Given the description of an element on the screen output the (x, y) to click on. 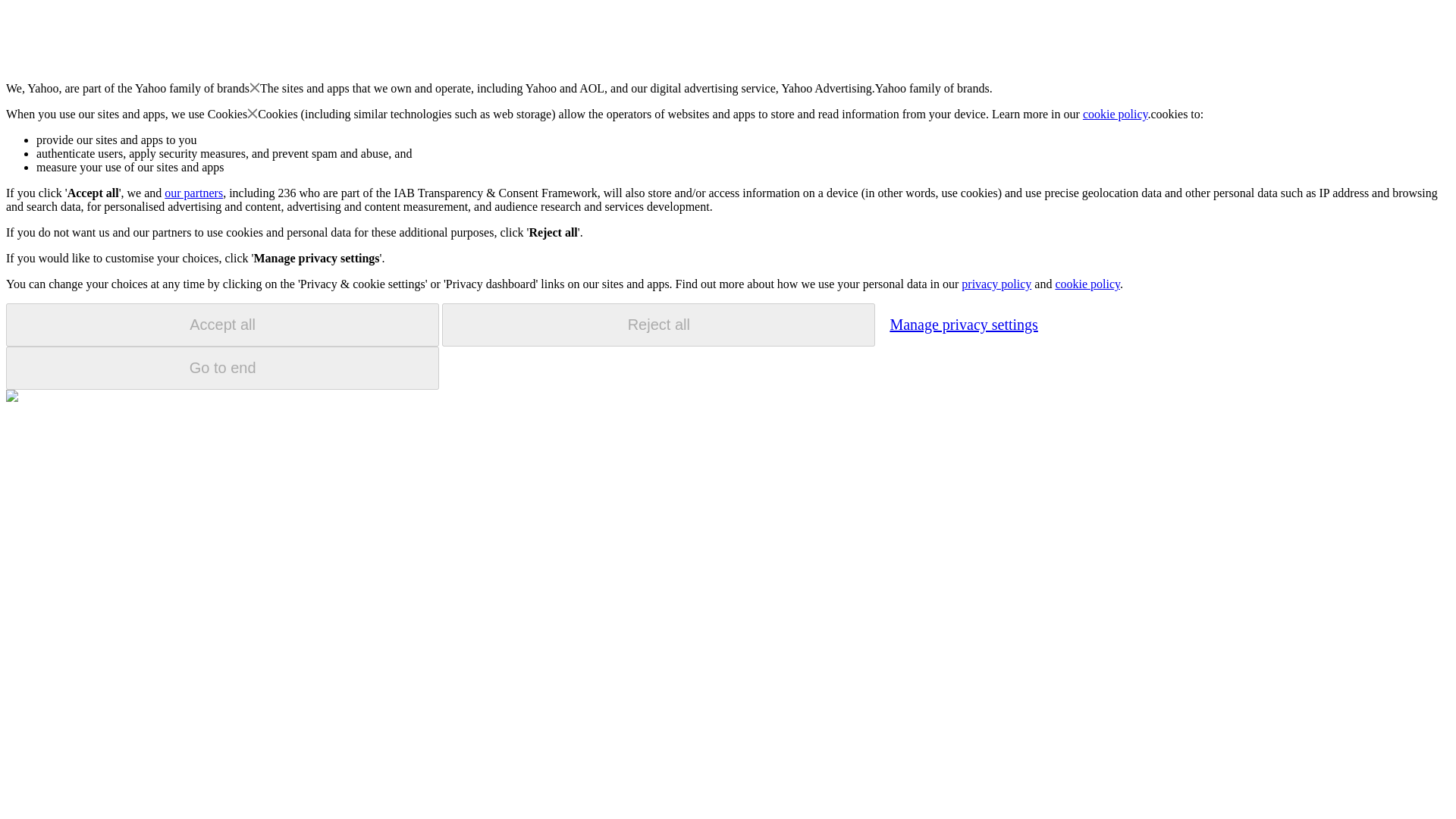
Manage privacy settings (963, 323)
cookie policy (1086, 283)
privacy policy (995, 283)
cookie policy (1115, 113)
Accept all (222, 324)
Go to end (222, 367)
Reject all (658, 324)
our partners (193, 192)
